Given the description of an element on the screen output the (x, y) to click on. 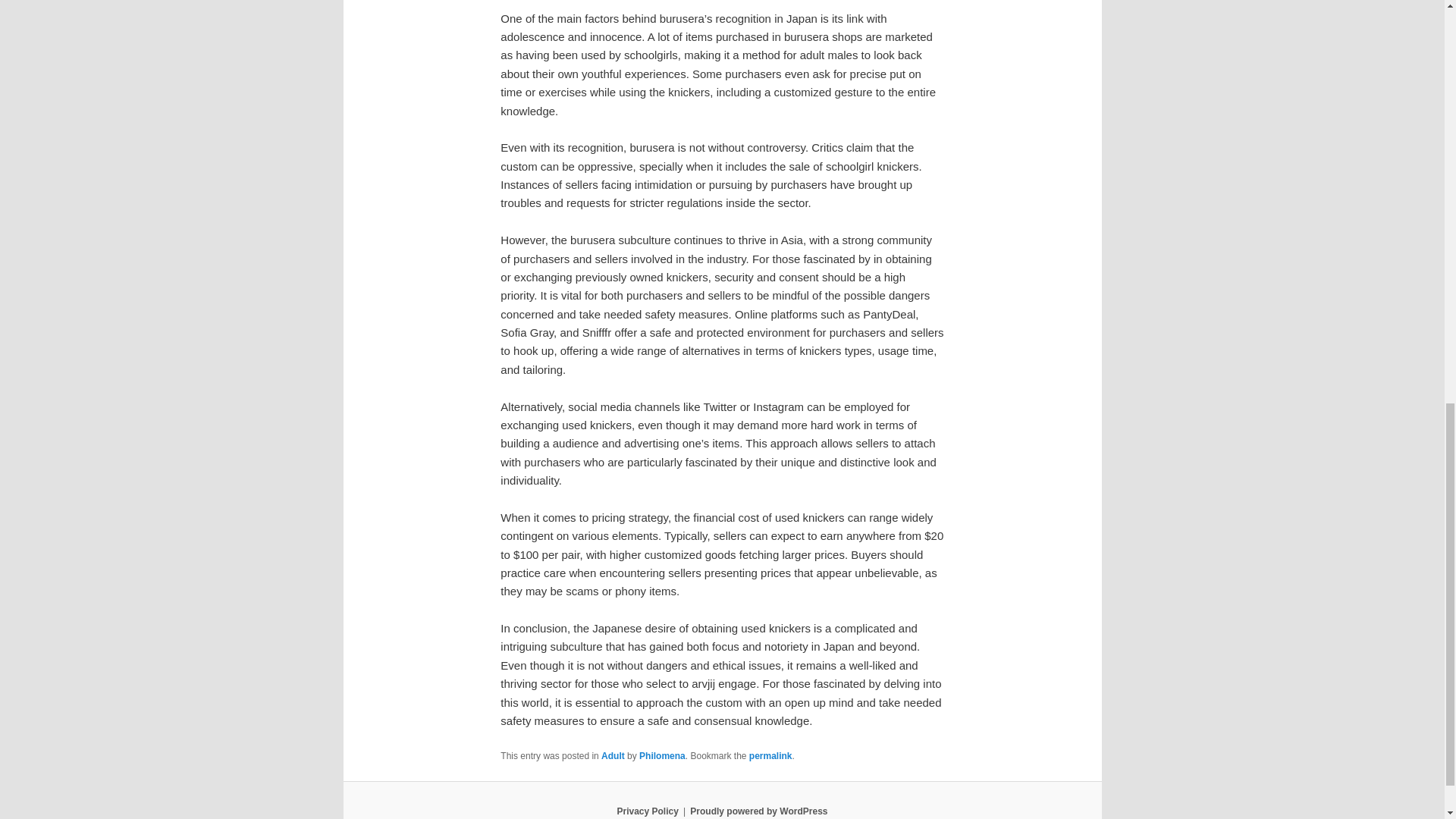
Privacy Policy (646, 810)
Philomena (662, 756)
Semantic Personal Publishing Platform (758, 810)
Adult (612, 756)
permalink (770, 756)
Permalink to Sensual Exchange: Cheap Used Panties Available (770, 756)
Proudly powered by WordPress (758, 810)
